Given the description of an element on the screen output the (x, y) to click on. 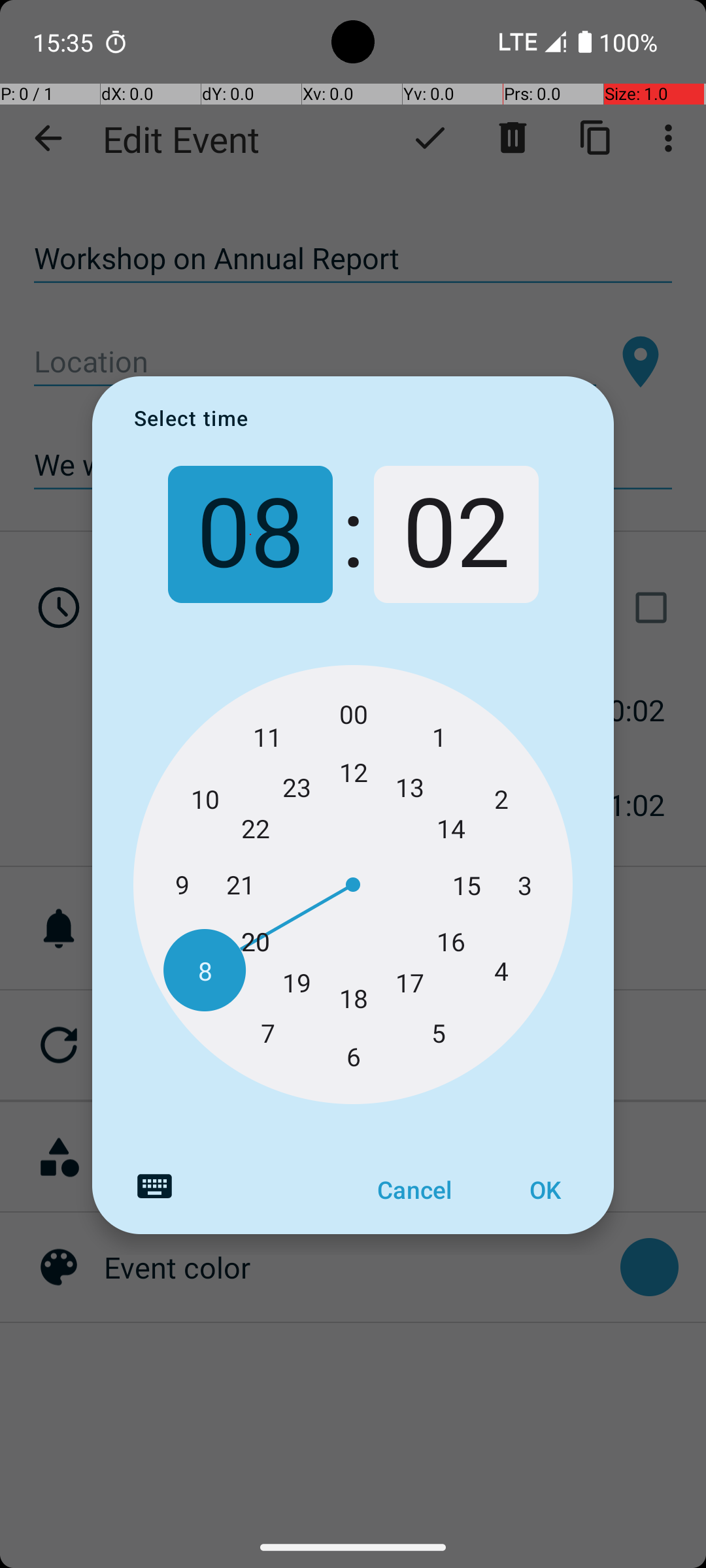
08 Element type: android.view.View (250, 534)
02 Element type: android.view.View (455, 534)
